Given the description of an element on the screen output the (x, y) to click on. 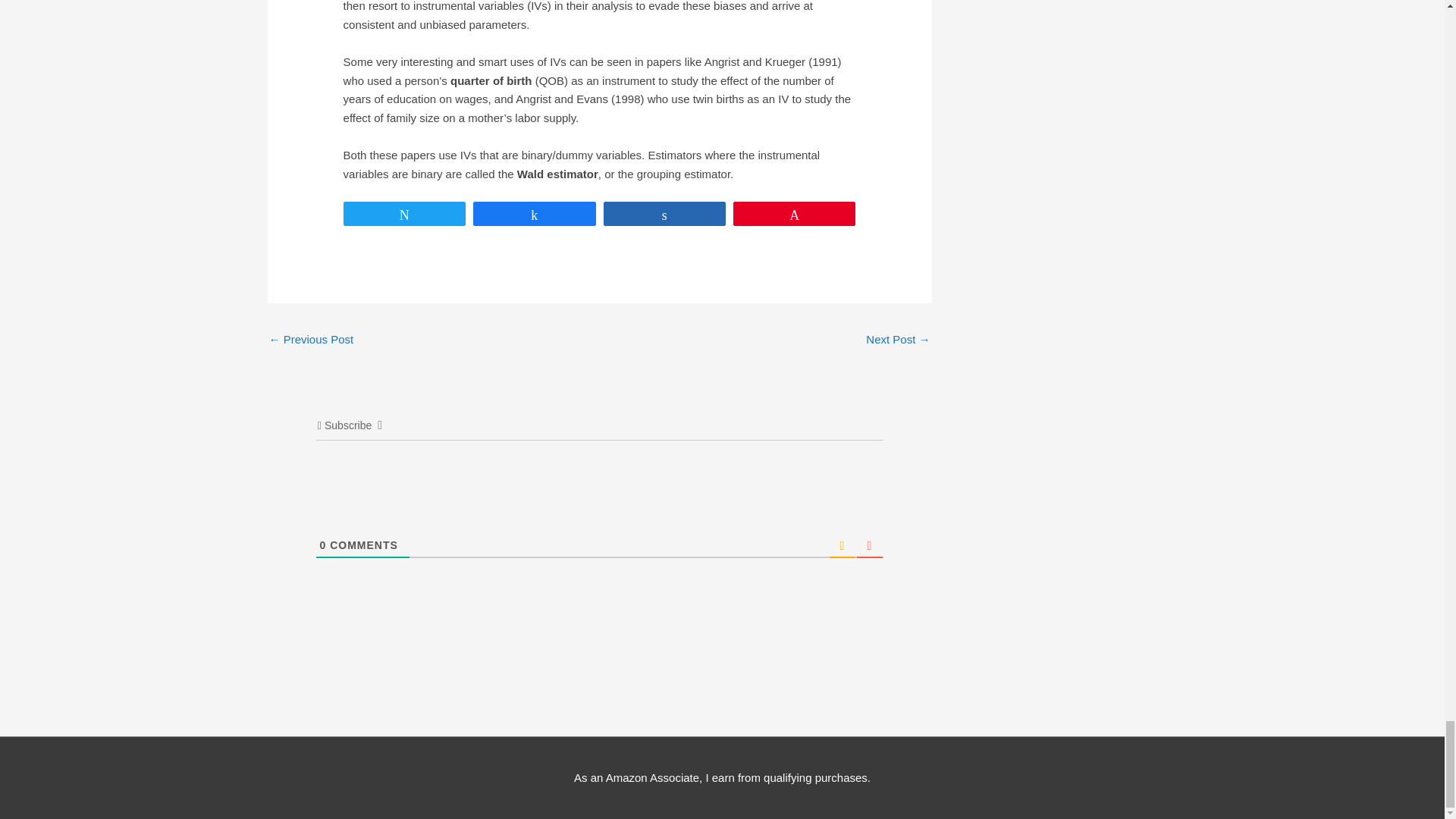
If-else statement in R (310, 340)
Combine Multiple CSV, Excel and Txt Files in R (898, 340)
